Given the description of an element on the screen output the (x, y) to click on. 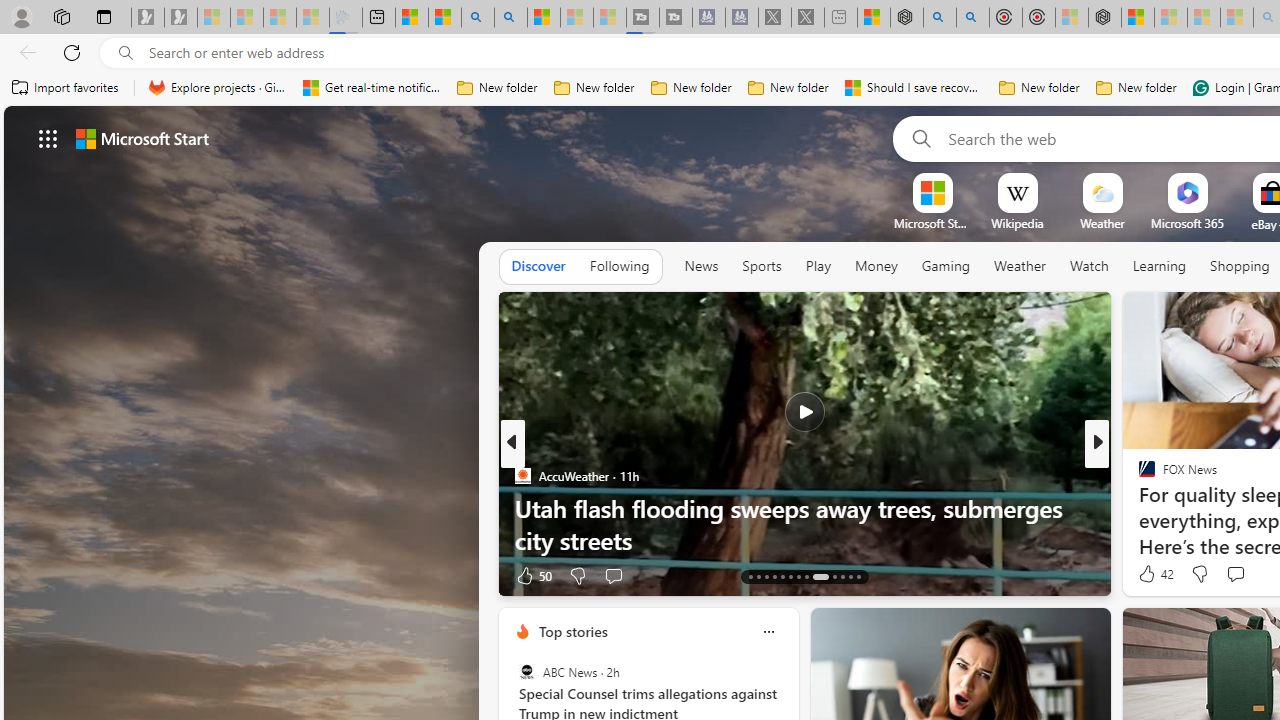
AutomationID: waffle (47, 138)
